Given the description of an element on the screen output the (x, y) to click on. 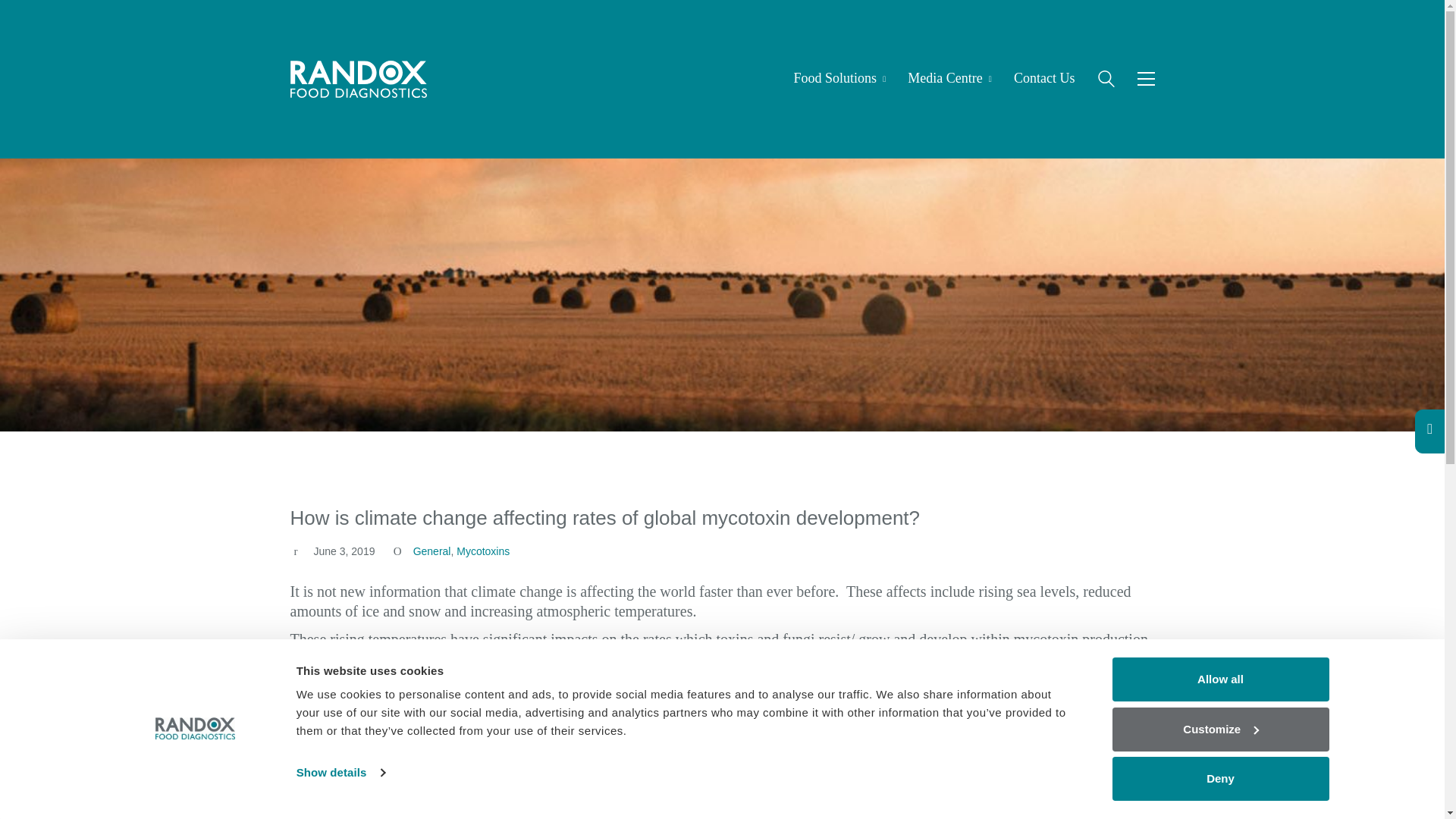
Deny (1219, 778)
Show details (340, 772)
Allow all (1219, 679)
Customize (1219, 728)
